Given the description of an element on the screen output the (x, y) to click on. 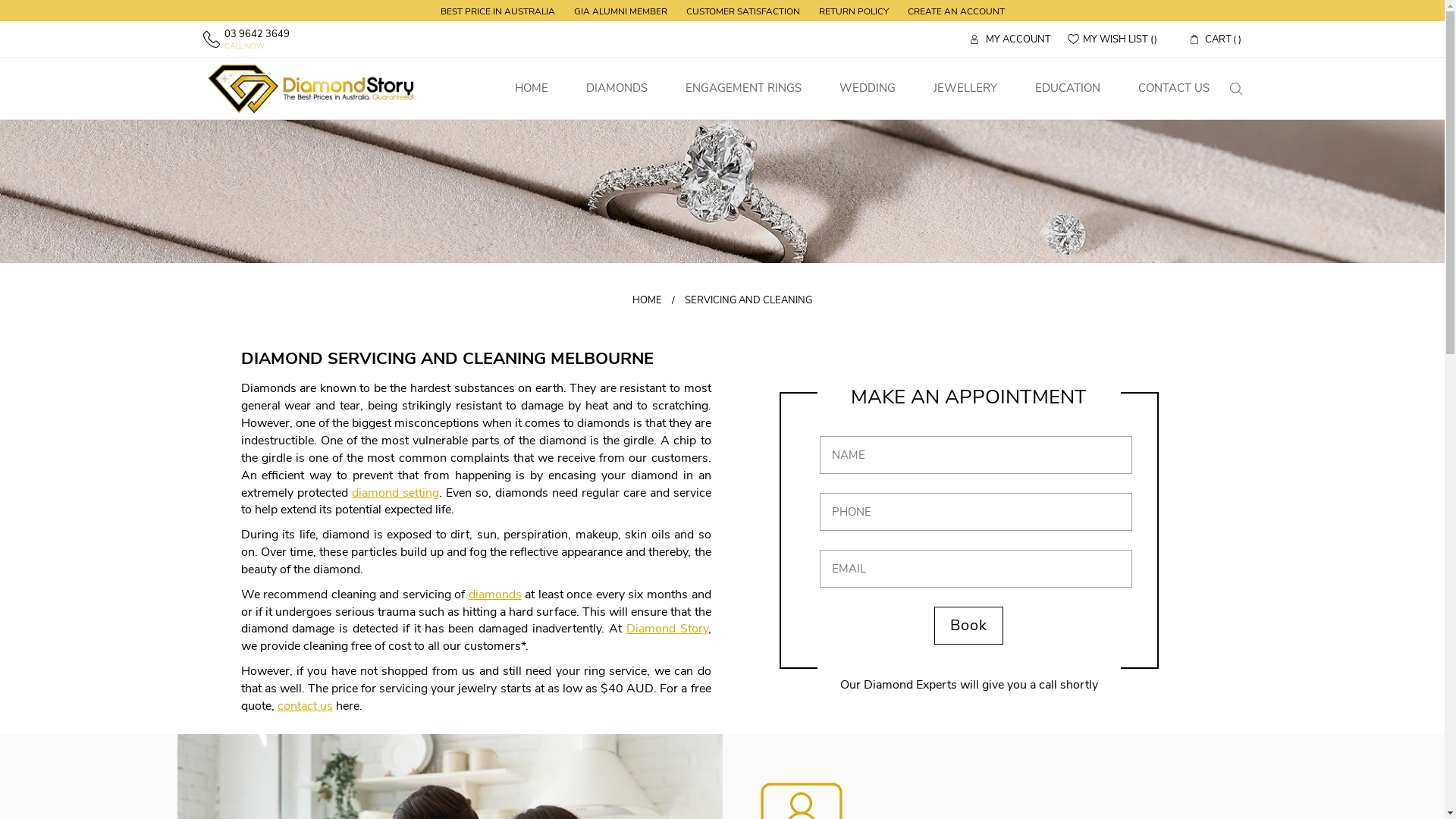
CUSTOMER SATISFACTION Element type: text (742, 11)
Diamond Story Element type: hover (309, 87)
Diamond Story Element type: hover (318, 88)
GIA ALUMNI MEMBER Element type: text (619, 11)
contact us Element type: text (304, 705)
RETURN POLICY Element type: text (853, 11)
Skip to Content Element type: text (201, 4)
EDUCATION Element type: text (1067, 88)
CONTACT US Element type: text (1173, 88)
CREATE AN ACCOUNT Element type: text (955, 11)
DIAMONDS Element type: text (616, 88)
MY ACCOUNT Element type: text (1010, 39)
ENGAGEMENT RINGS Element type: text (742, 88)
03 9642 3649
CALL NOW Element type: text (246, 39)
diamond setting Element type: text (395, 492)
HOME Element type: text (531, 88)
MY WISH LIST Element type: text (1112, 39)
diamonds Element type: text (494, 594)
JEWELLERY Element type: text (965, 88)
HOME Element type: text (647, 299)
WEDDING Element type: text (867, 88)
Diamond Story Element type: text (667, 628)
CART Element type: text (1216, 39)
Search Element type: hover (1236, 88)
Book Element type: text (968, 625)
BEST PRICE IN AUSTRALIA Element type: text (496, 11)
